Given the description of an element on the screen output the (x, y) to click on. 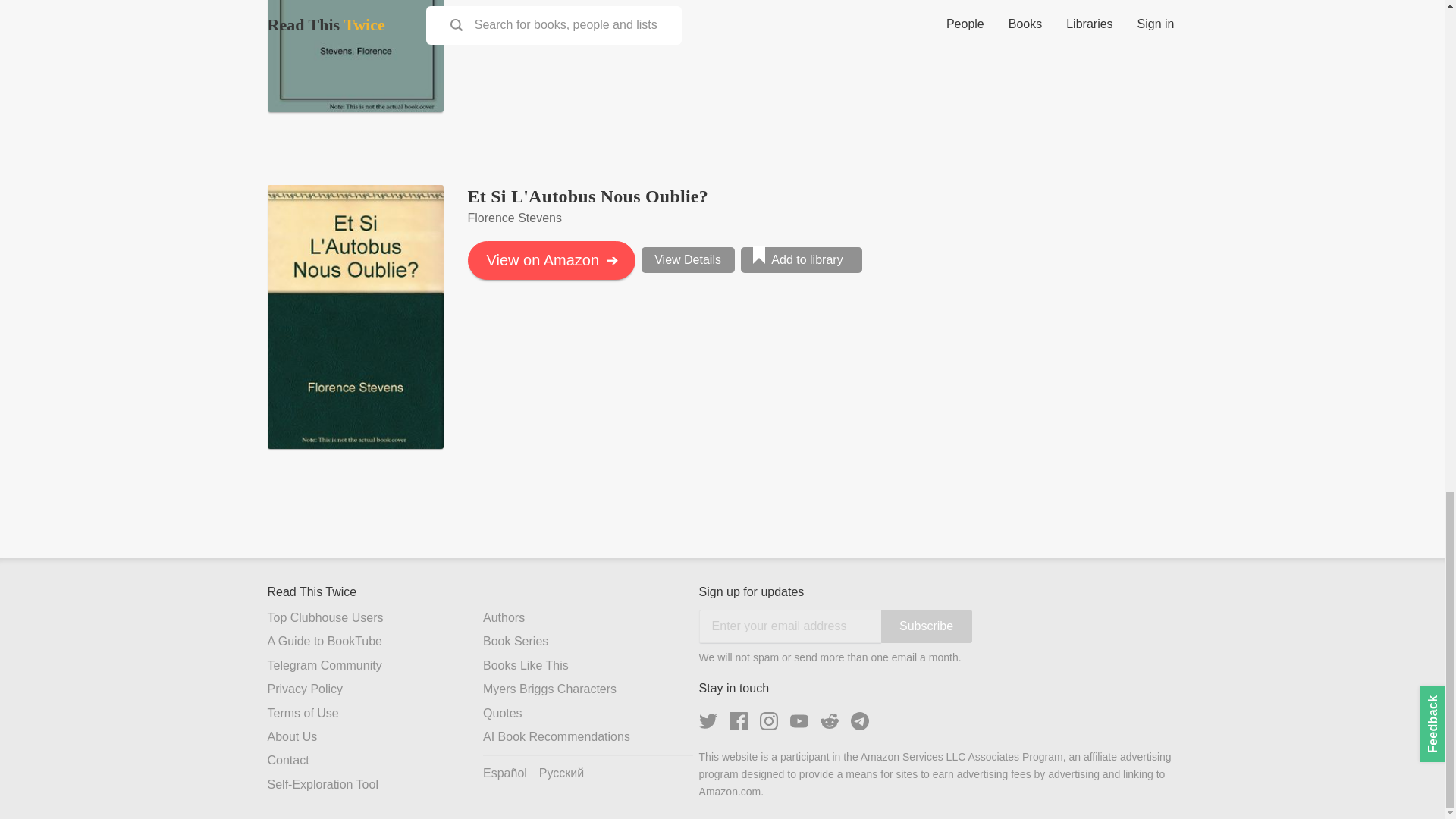
A Guide to BookTube (374, 641)
Top Clubhouse Users (374, 617)
Et Si L'Autobus Nous Oublie? (587, 196)
View Details (688, 259)
Add to library (800, 259)
Telegram Community (374, 666)
